Given the description of an element on the screen output the (x, y) to click on. 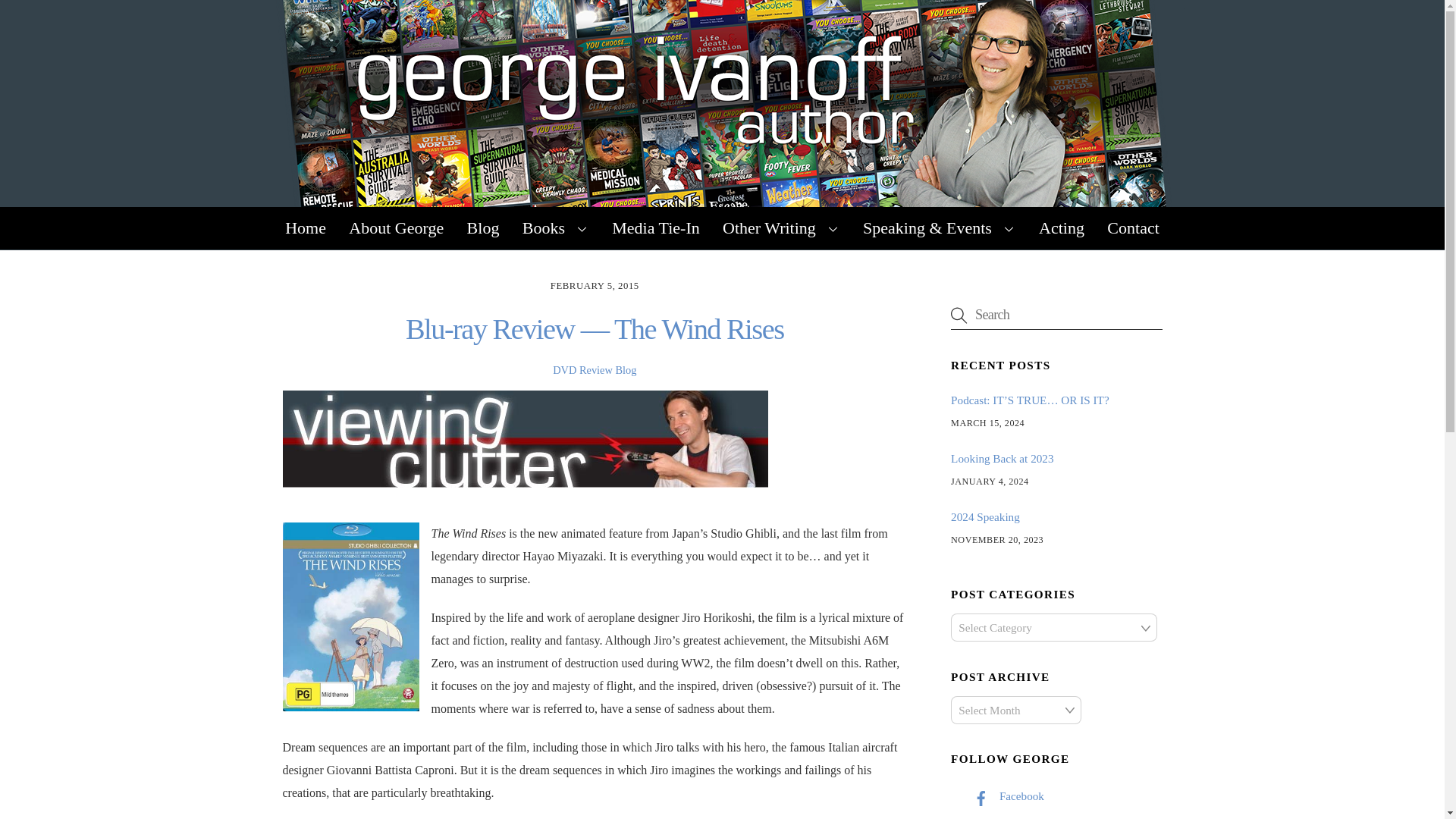
Search (1055, 315)
Other Writing (781, 228)
Viewing Clutter (524, 438)
DVD Review Blog (594, 369)
Media Tie-In (656, 228)
Home (305, 228)
Contact (1133, 228)
windrises (350, 616)
Books (555, 228)
About George (395, 228)
Blog (482, 228)
Acting (1061, 228)
